Given the description of an element on the screen output the (x, y) to click on. 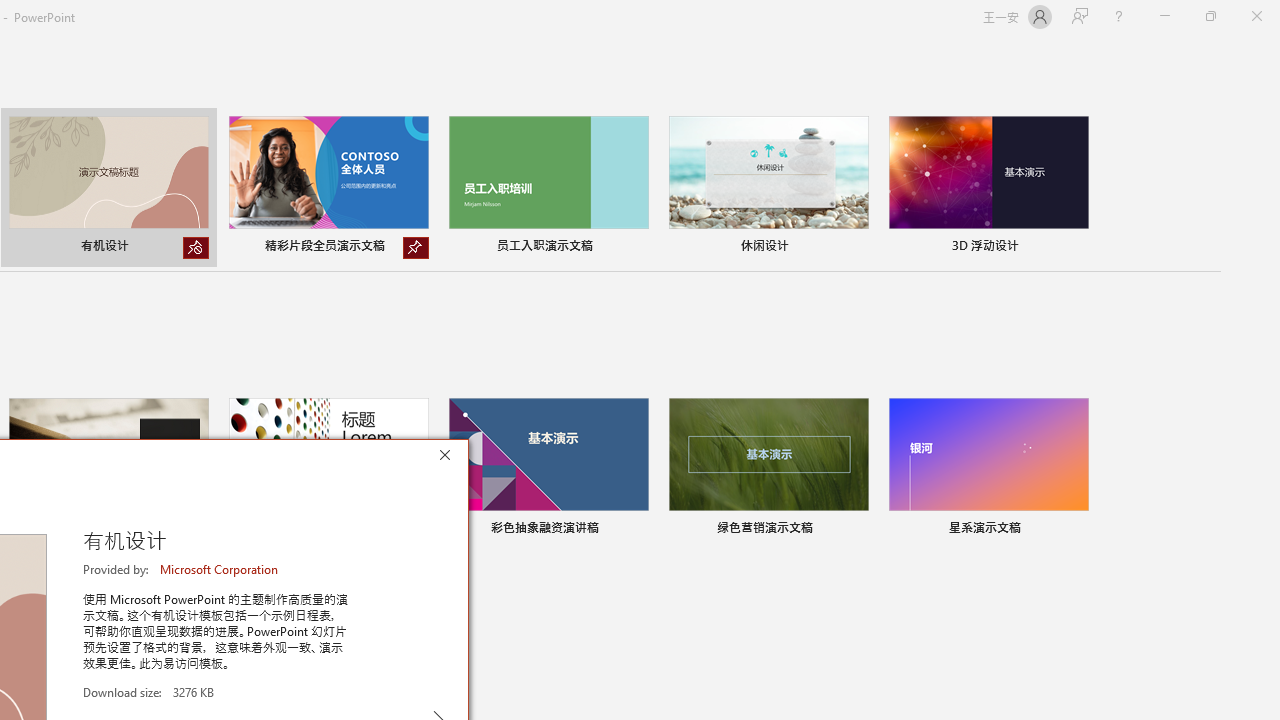
Microsoft Corporation (220, 569)
Unpin from list (415, 247)
Pin to list (1075, 529)
